Given the description of an element on the screen output the (x, y) to click on. 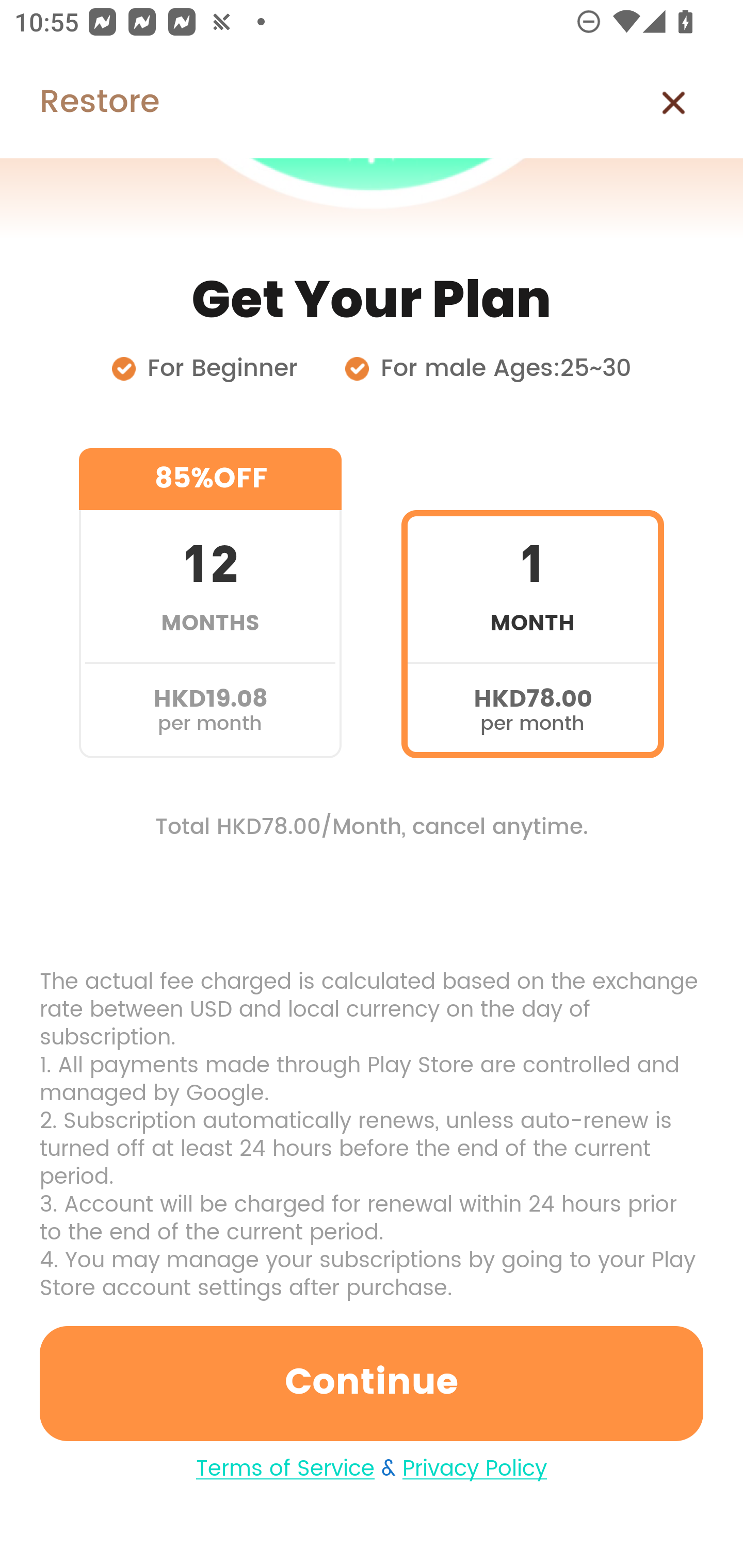
Restore (79, 102)
85%OFF 12 MONTHS per month HKD19.08 (209, 603)
1 MONTH per month HKD78.00 (532, 603)
Continue (371, 1383)
